Given the description of an element on the screen output the (x, y) to click on. 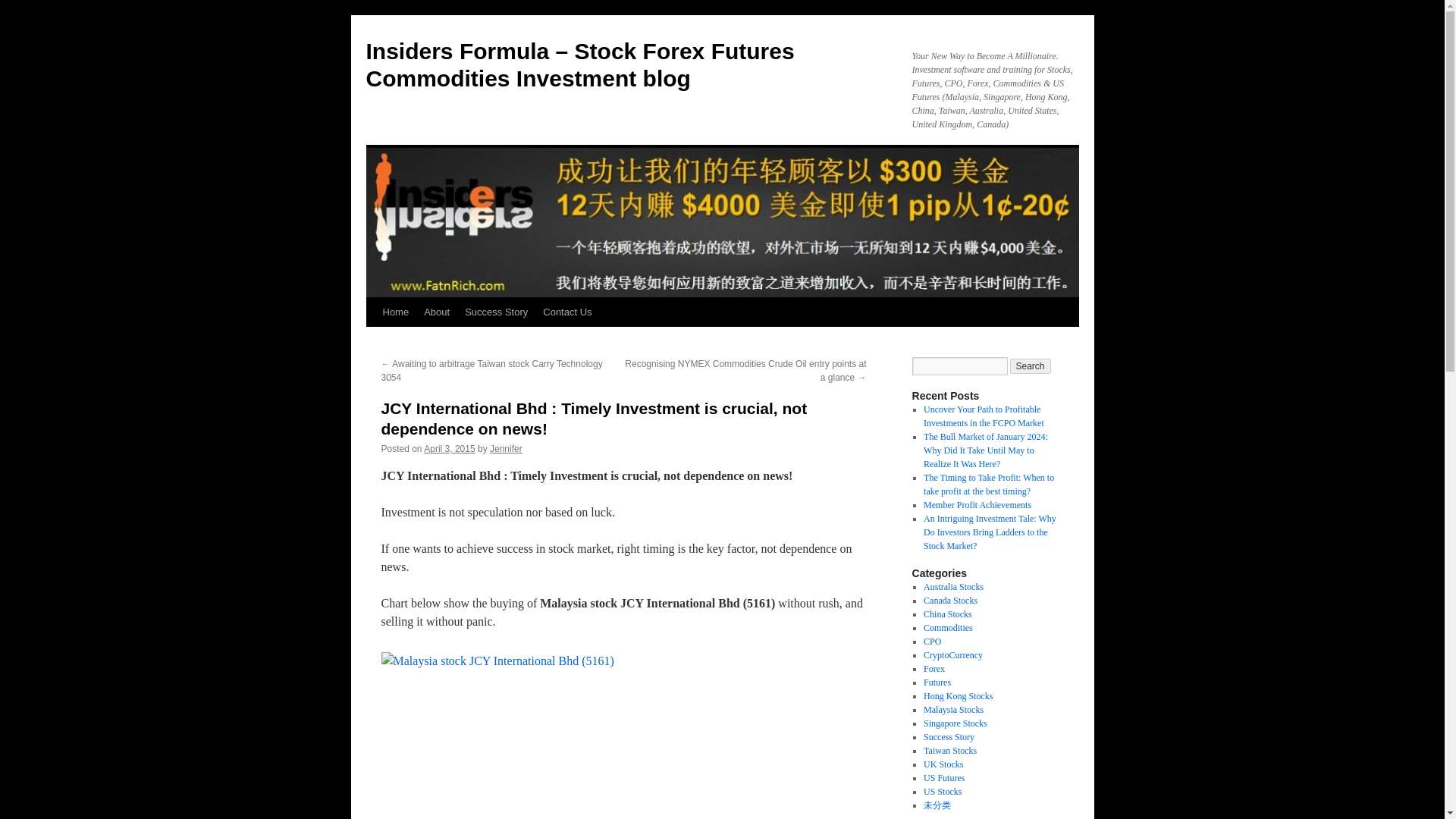
Search (1030, 365)
4:52 pm (448, 448)
Jennifer (505, 448)
About (436, 312)
April 3, 2015 (448, 448)
Search (1030, 365)
View all posts by Jennifer (505, 448)
